Given the description of an element on the screen output the (x, y) to click on. 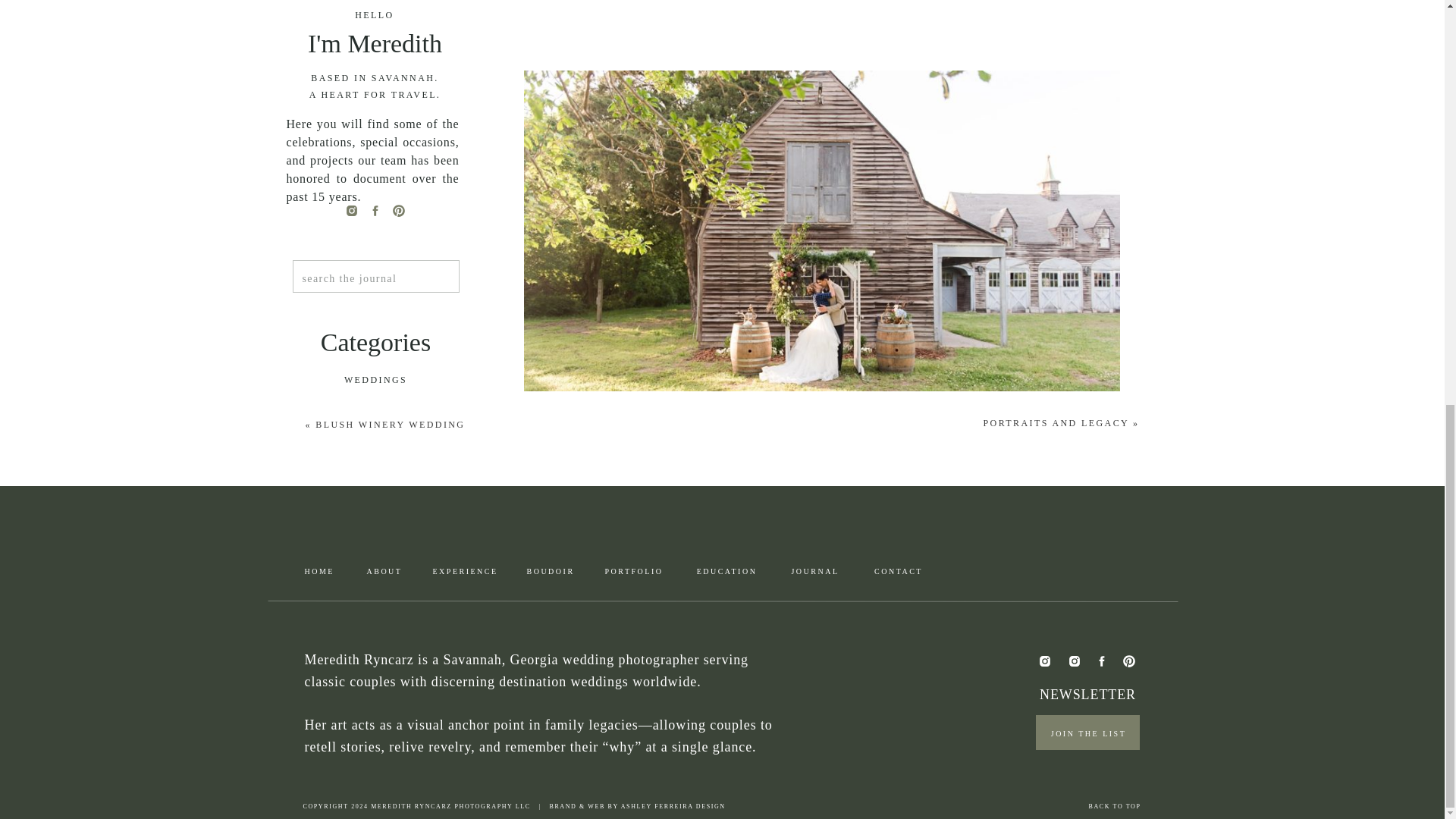
BOUDOIR (376, 442)
EDITORIAL (376, 504)
ANNIVERSARIES (376, 534)
WEDDING PLANNING TIPS (376, 565)
I DO DESTINATION (376, 724)
FORBES (376, 679)
ENGAGEMENTS (376, 411)
PERSONAL (376, 473)
MUNALUCHI BRIDE (376, 770)
WEDDINGS (376, 380)
